Given the description of an element on the screen output the (x, y) to click on. 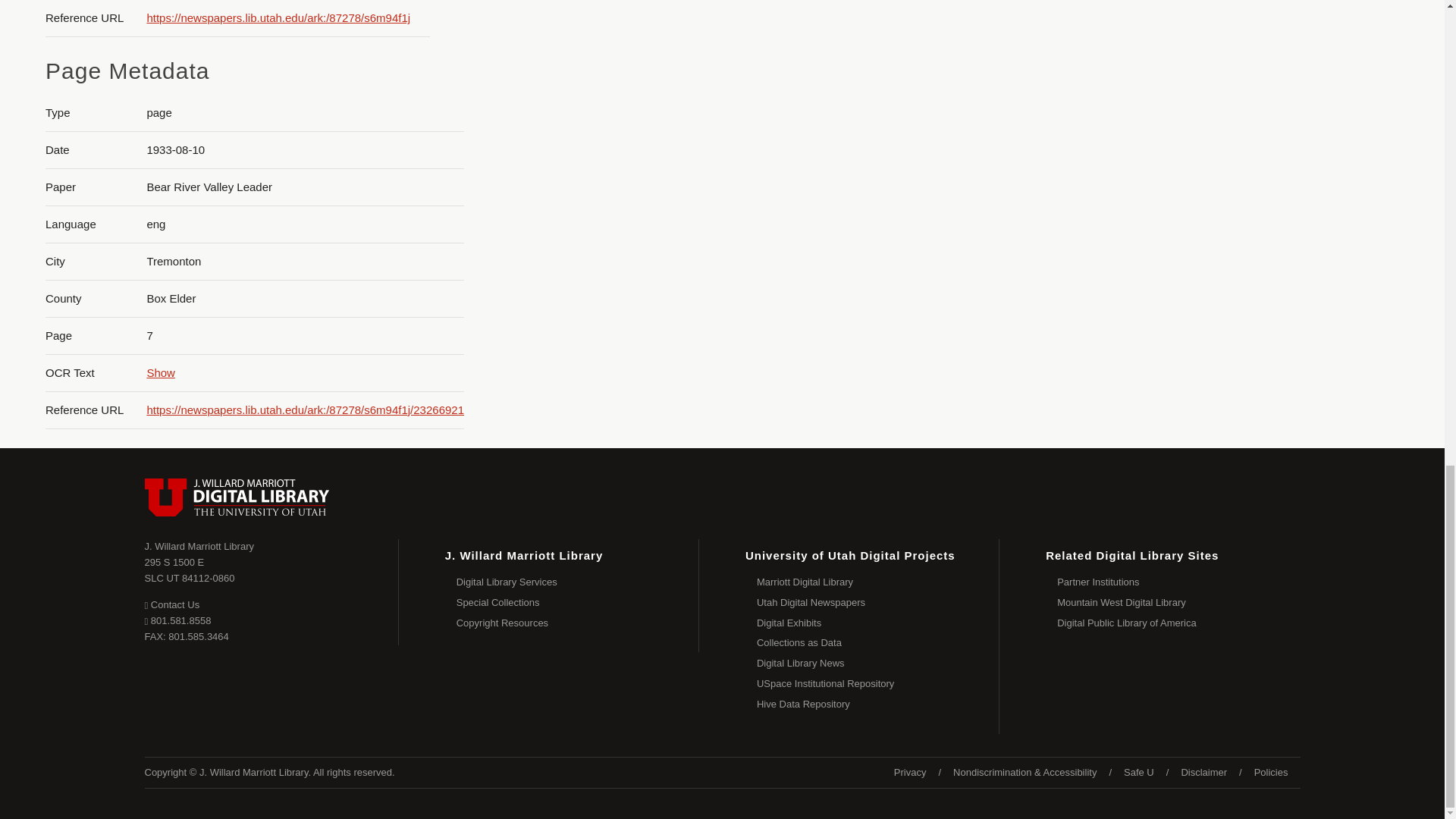
Contact Us (171, 604)
Page 8 (1299, 26)
Show (189, 569)
J. Willard Marriott Library (160, 372)
Digital Library Services (198, 546)
Special Collections (577, 582)
